Given the description of an element on the screen output the (x, y) to click on. 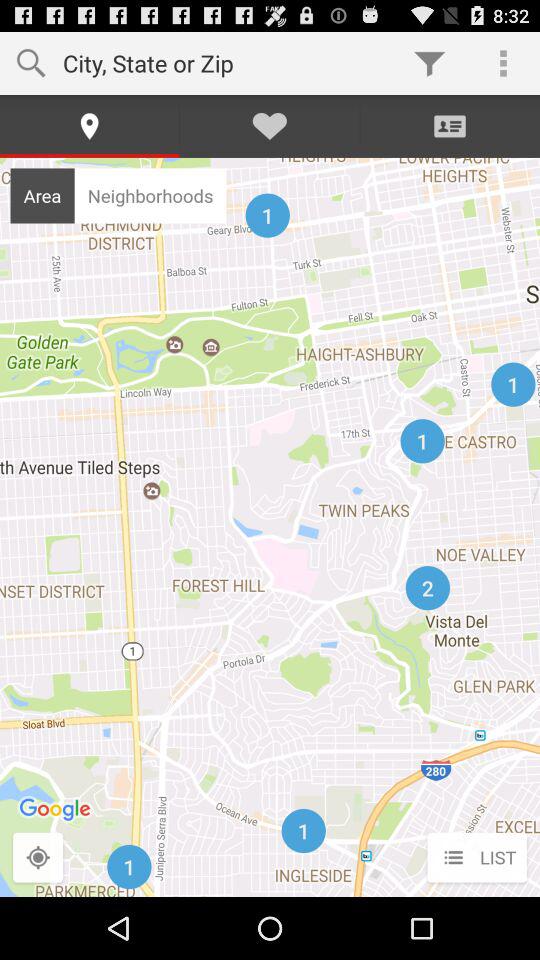
turn on the app next to the city state or item (429, 62)
